Given the description of an element on the screen output the (x, y) to click on. 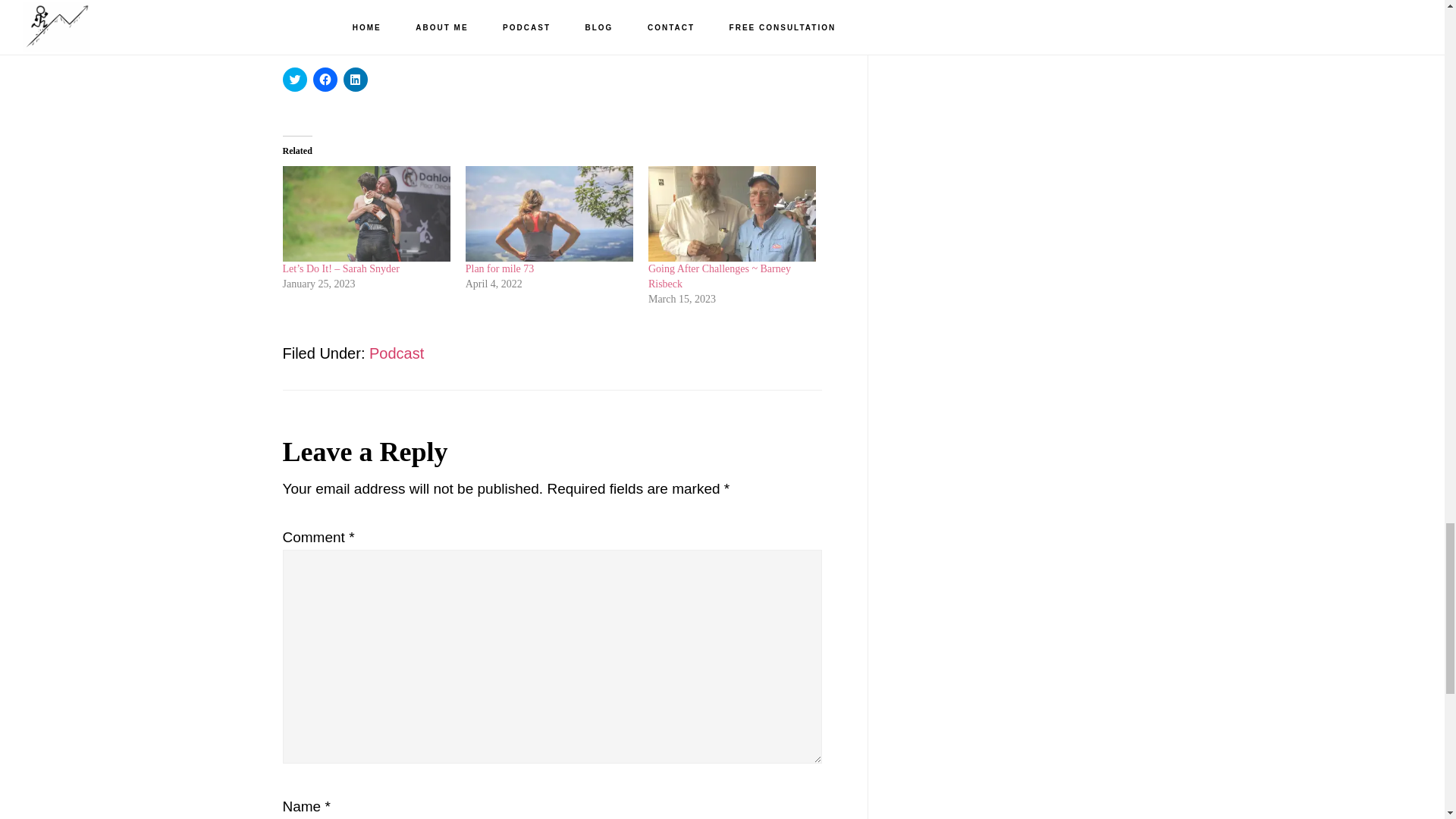
Plan for mile 73 (499, 268)
Podcast (396, 352)
Plan for mile 73 (549, 213)
Plan for mile 73 (499, 268)
Click to share on LinkedIn (354, 79)
Click to share on Twitter (293, 79)
Click to share on Facebook (324, 79)
